Given the description of an element on the screen output the (x, y) to click on. 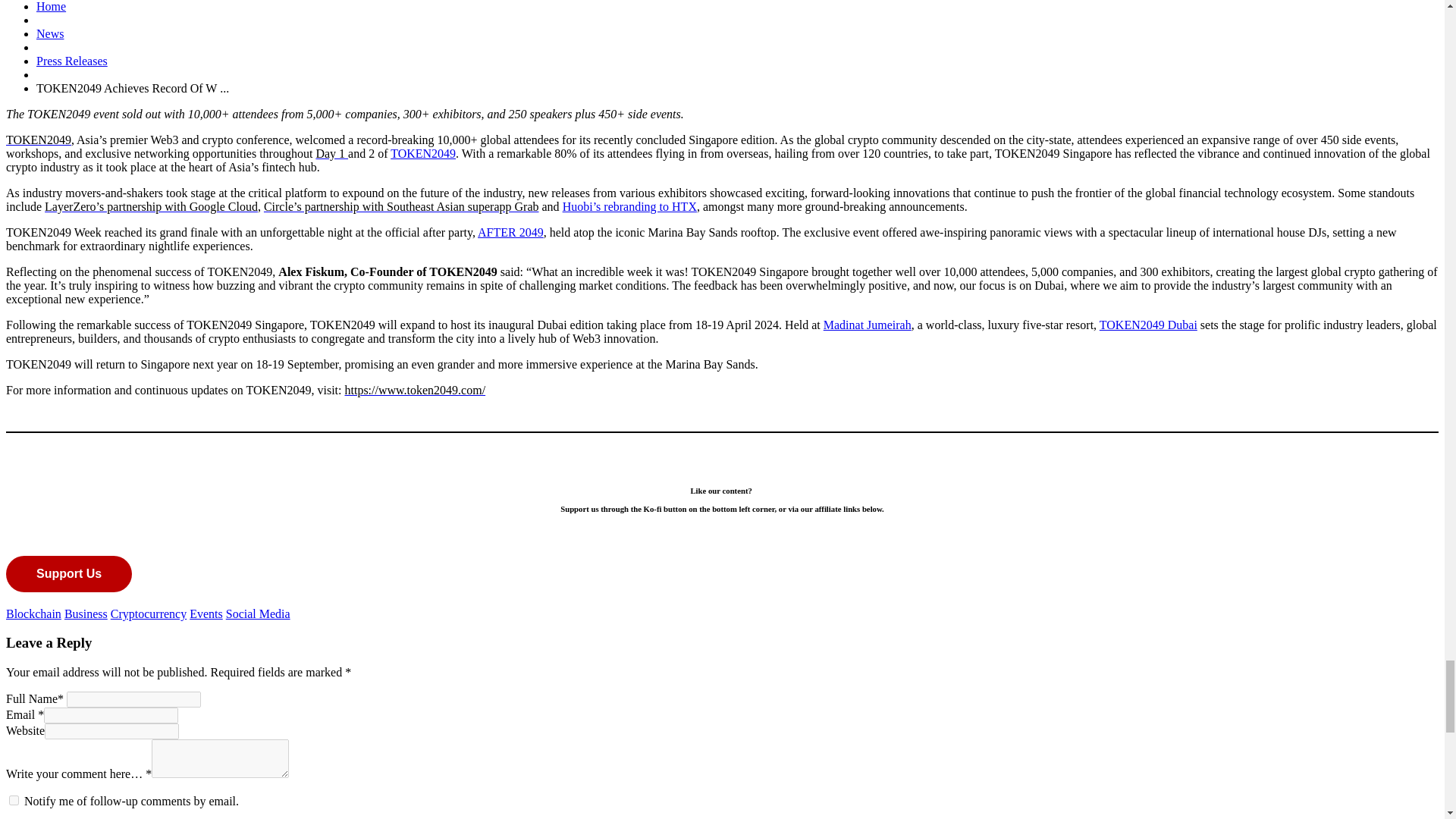
subscribe (13, 800)
Home (50, 6)
